Given the description of an element on the screen output the (x, y) to click on. 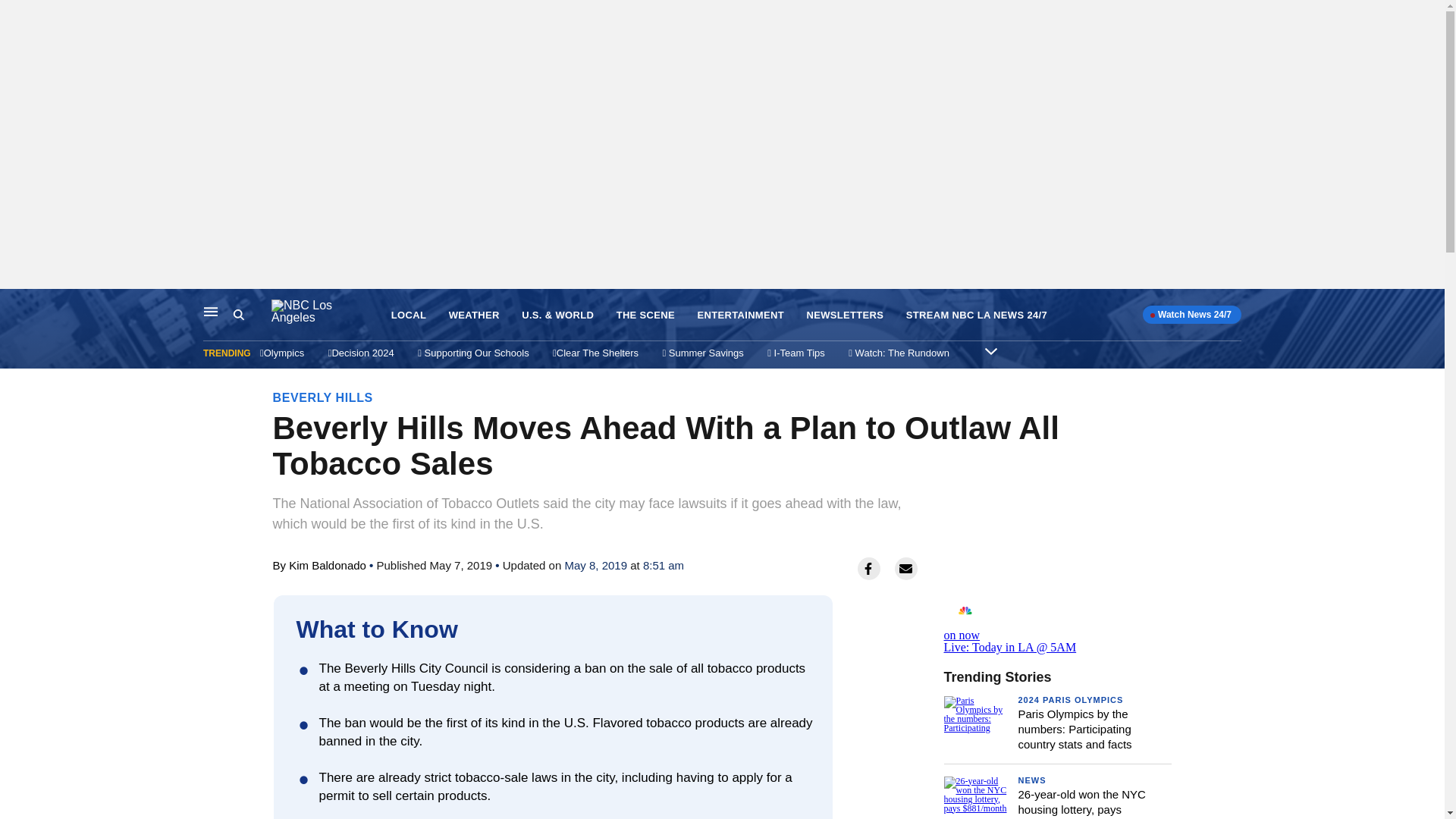
WEATHER (473, 315)
THE SCENE (645, 315)
BEVERLY HILLS (322, 397)
ENTERTAINMENT (740, 315)
Search (252, 314)
LOCAL (408, 315)
Skip to content (16, 304)
Expand (991, 350)
Main Navigation (210, 311)
NEWS (1031, 779)
2024 PARIS OLYMPICS (1069, 699)
Search (238, 314)
NEWSLETTERS (844, 315)
